Given the description of an element on the screen output the (x, y) to click on. 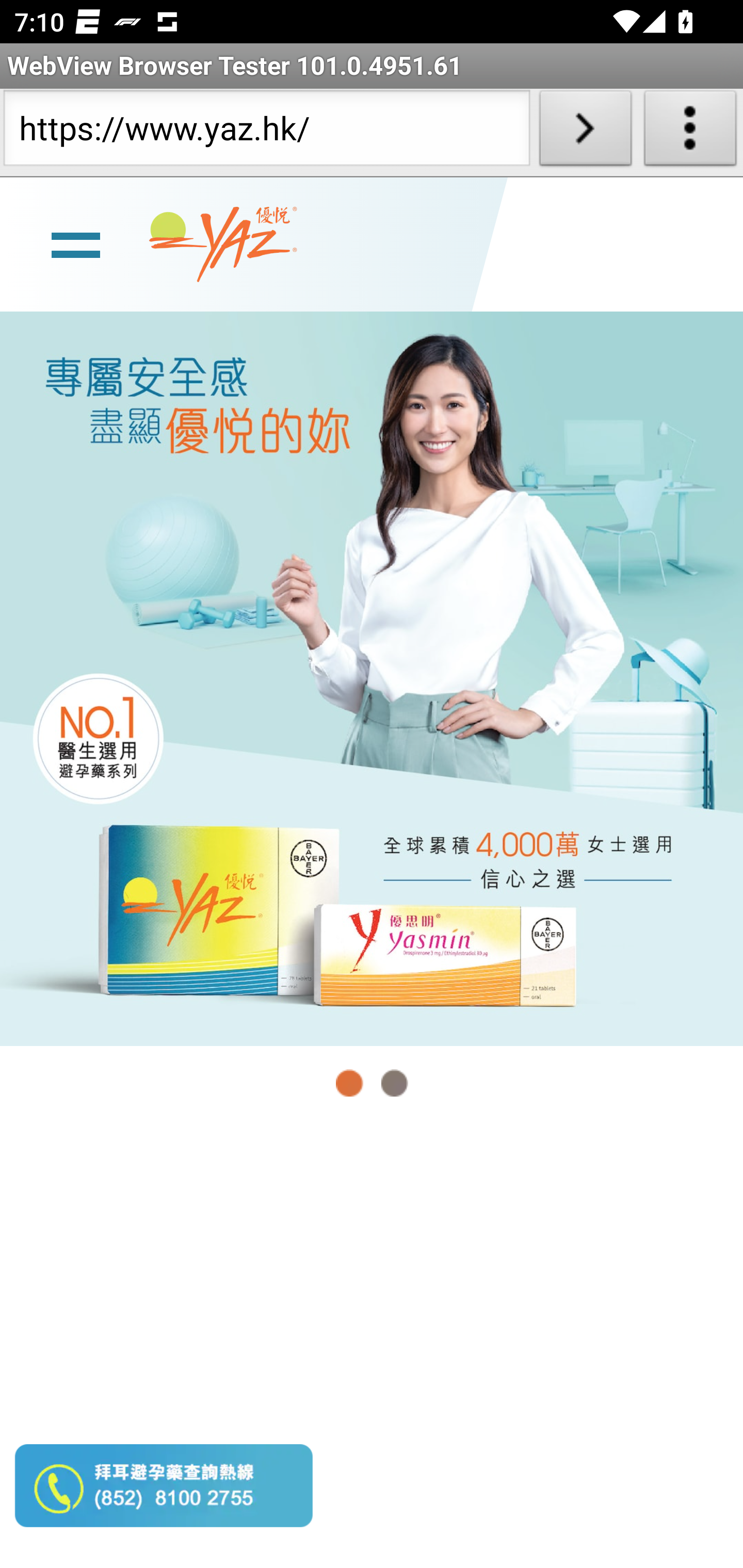
https://www.yaz.hk/ (266, 132)
Load URL (585, 132)
About WebView (690, 132)
www.yaz (222, 244)
line Toggle burger menu (75, 242)
slide 1 Alt tag Alt tag (371, 677)
1 of 2 (349, 1083)
2 of 2 (393, 1083)
Video Player (371, 1345)
